Given the description of an element on the screen output the (x, y) to click on. 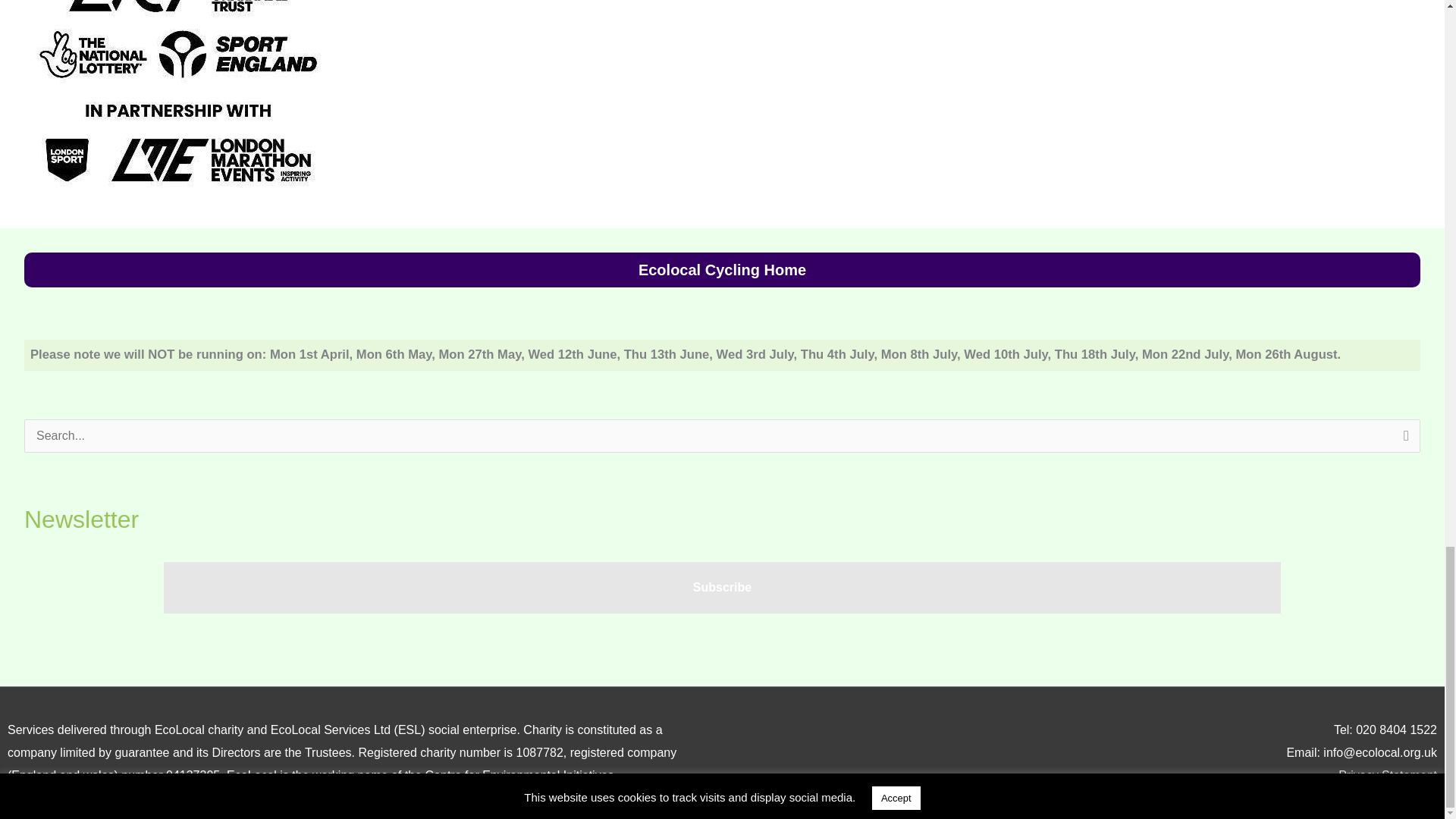
Ecolocal Cycling Home (722, 269)
Privacy Statement (1387, 775)
Subscribe (722, 587)
